Given the description of an element on the screen output the (x, y) to click on. 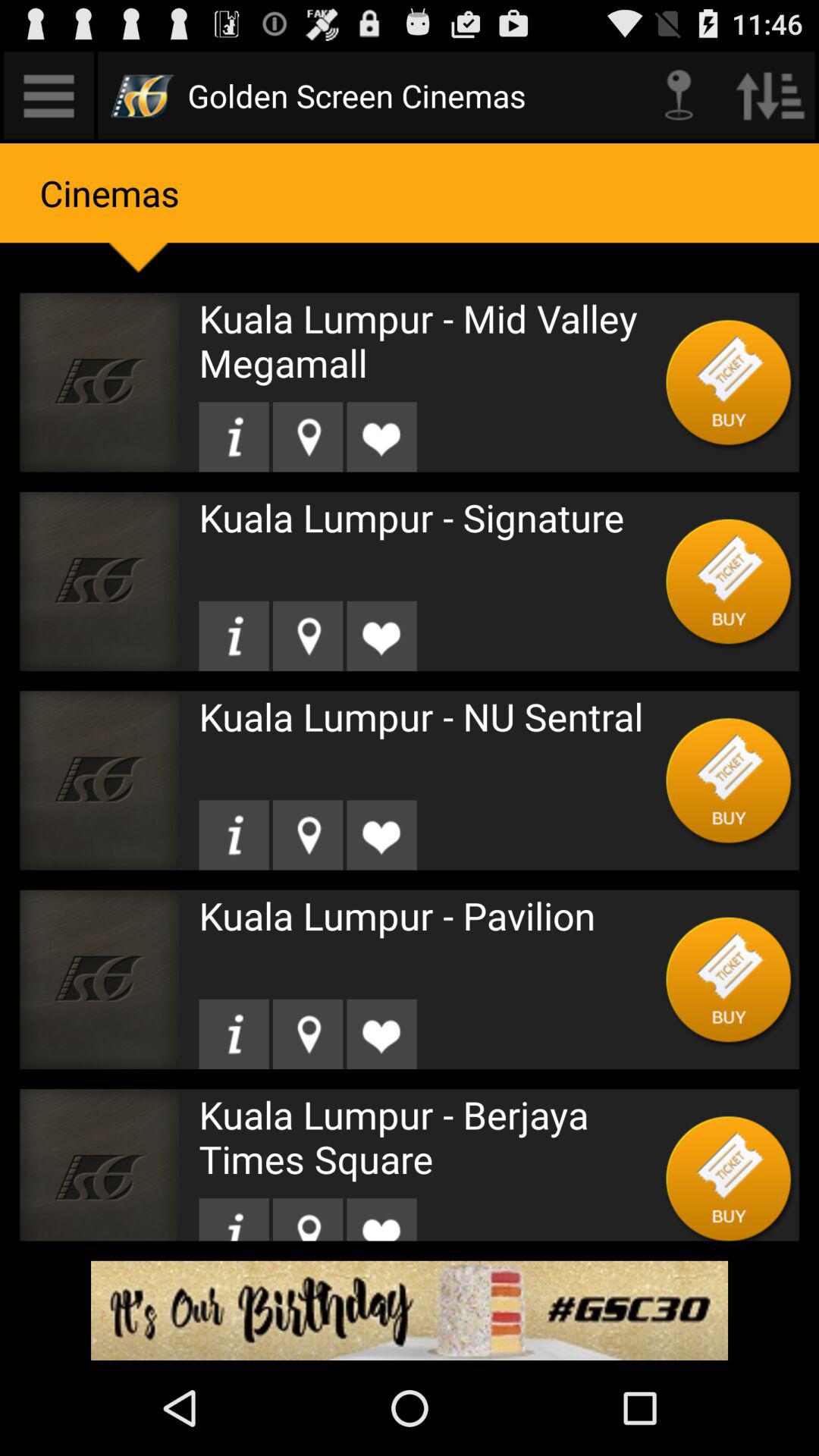
likes (381, 1034)
